Given the description of an element on the screen output the (x, y) to click on. 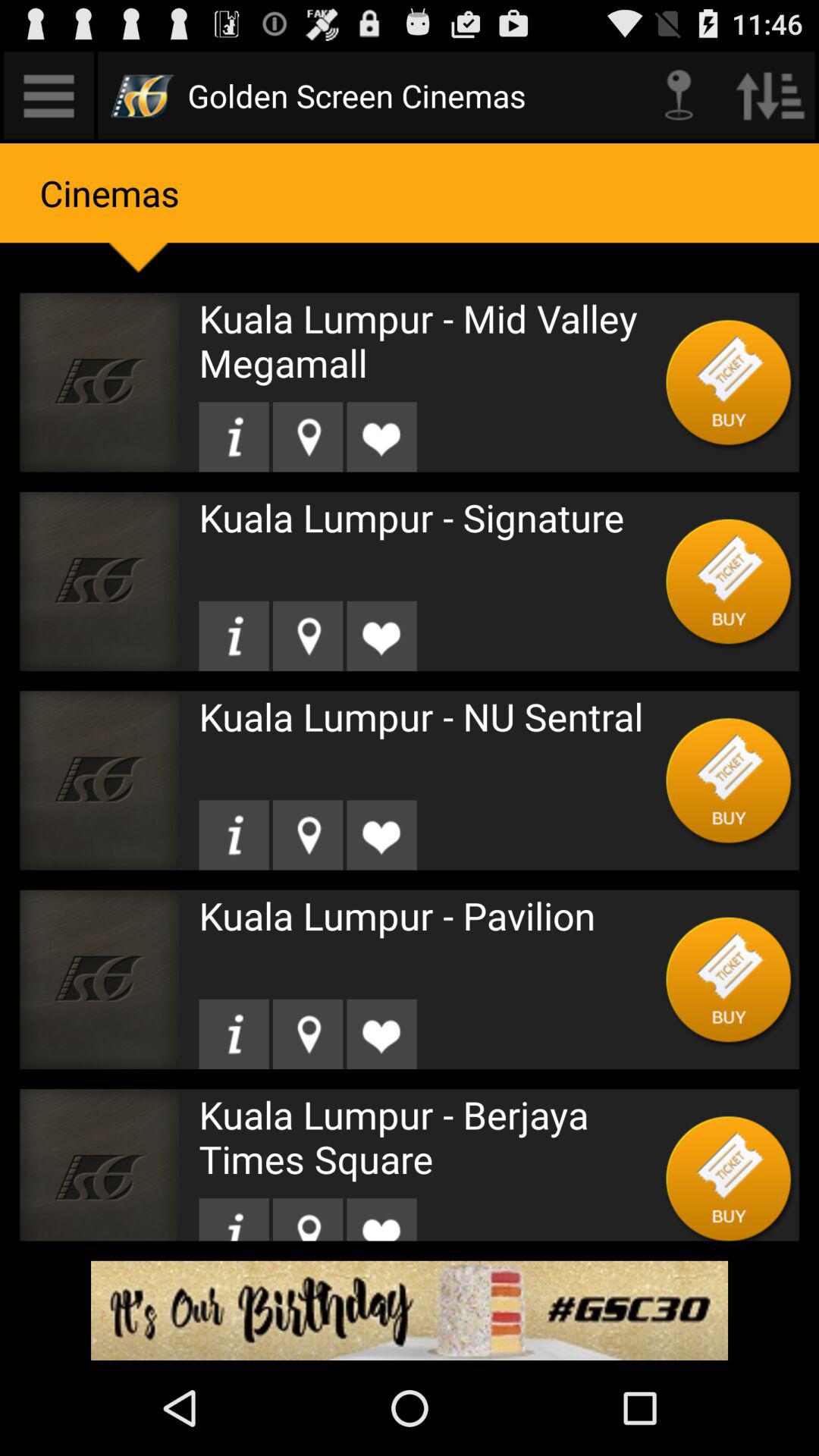
likes (381, 1034)
